Given the description of an element on the screen output the (x, y) to click on. 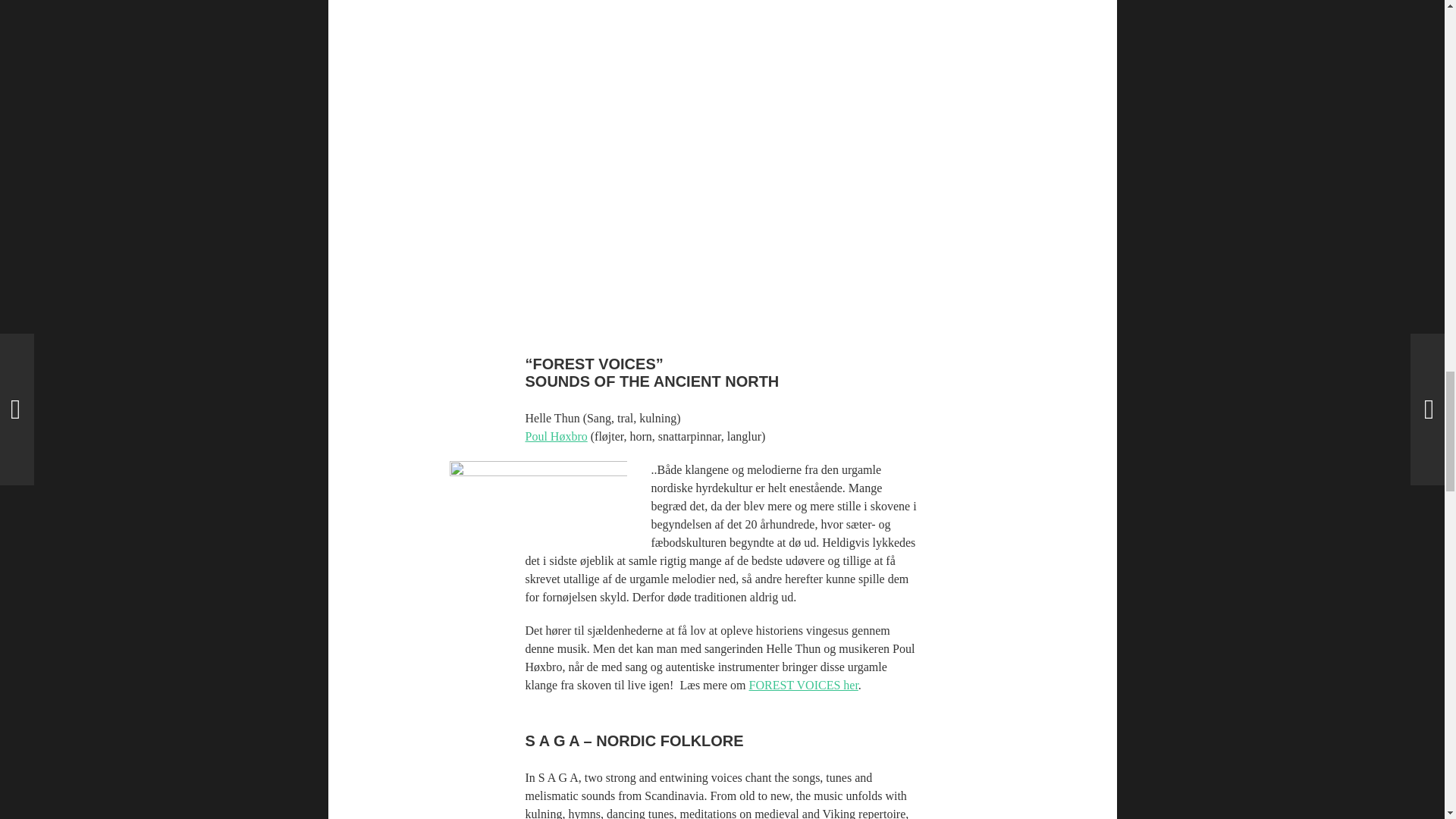
FOREST VOICES her (804, 684)
